Given the description of an element on the screen output the (x, y) to click on. 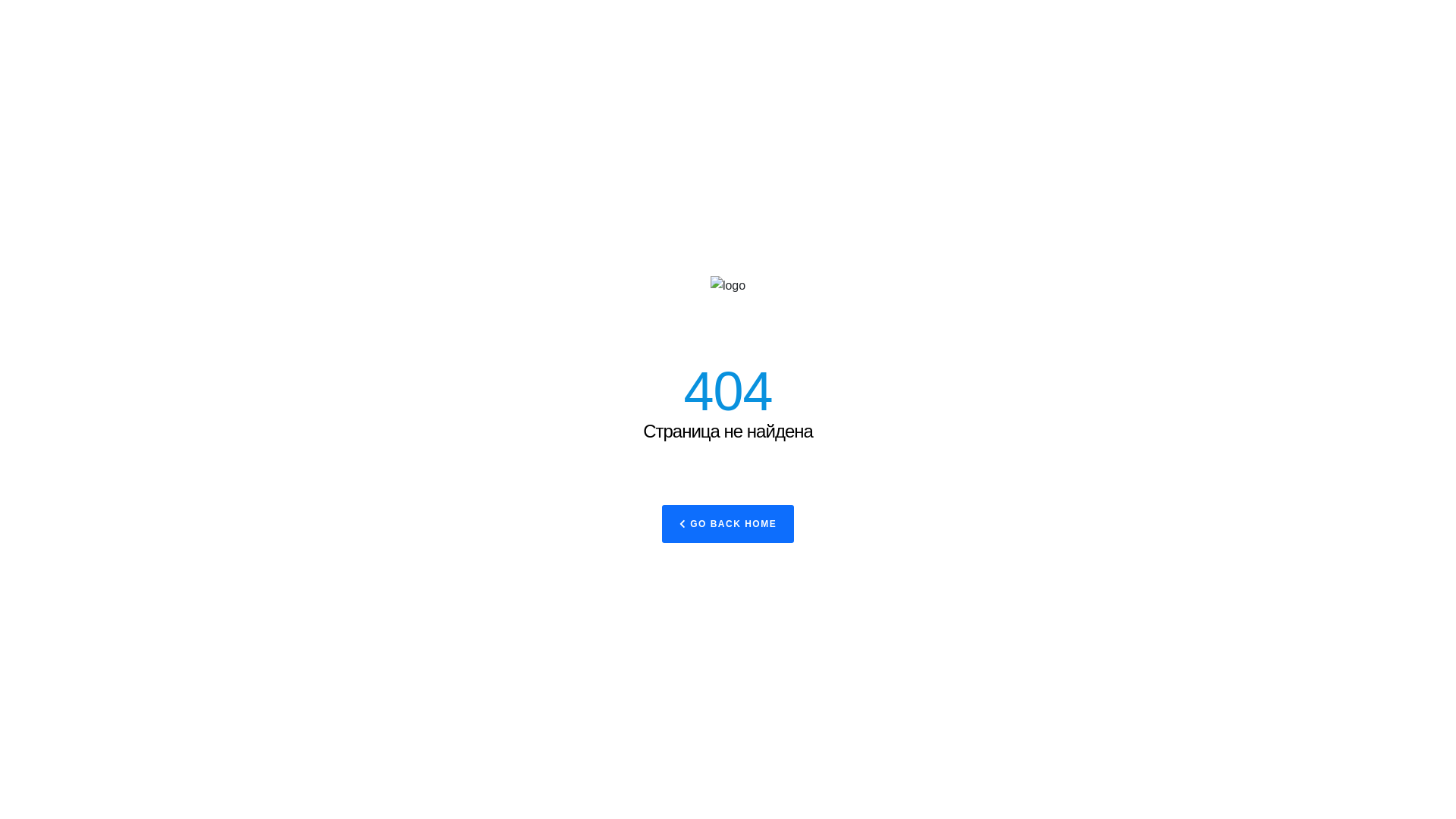
GO BACK HOME Element type: text (727, 523)
